Given the description of an element on the screen output the (x, y) to click on. 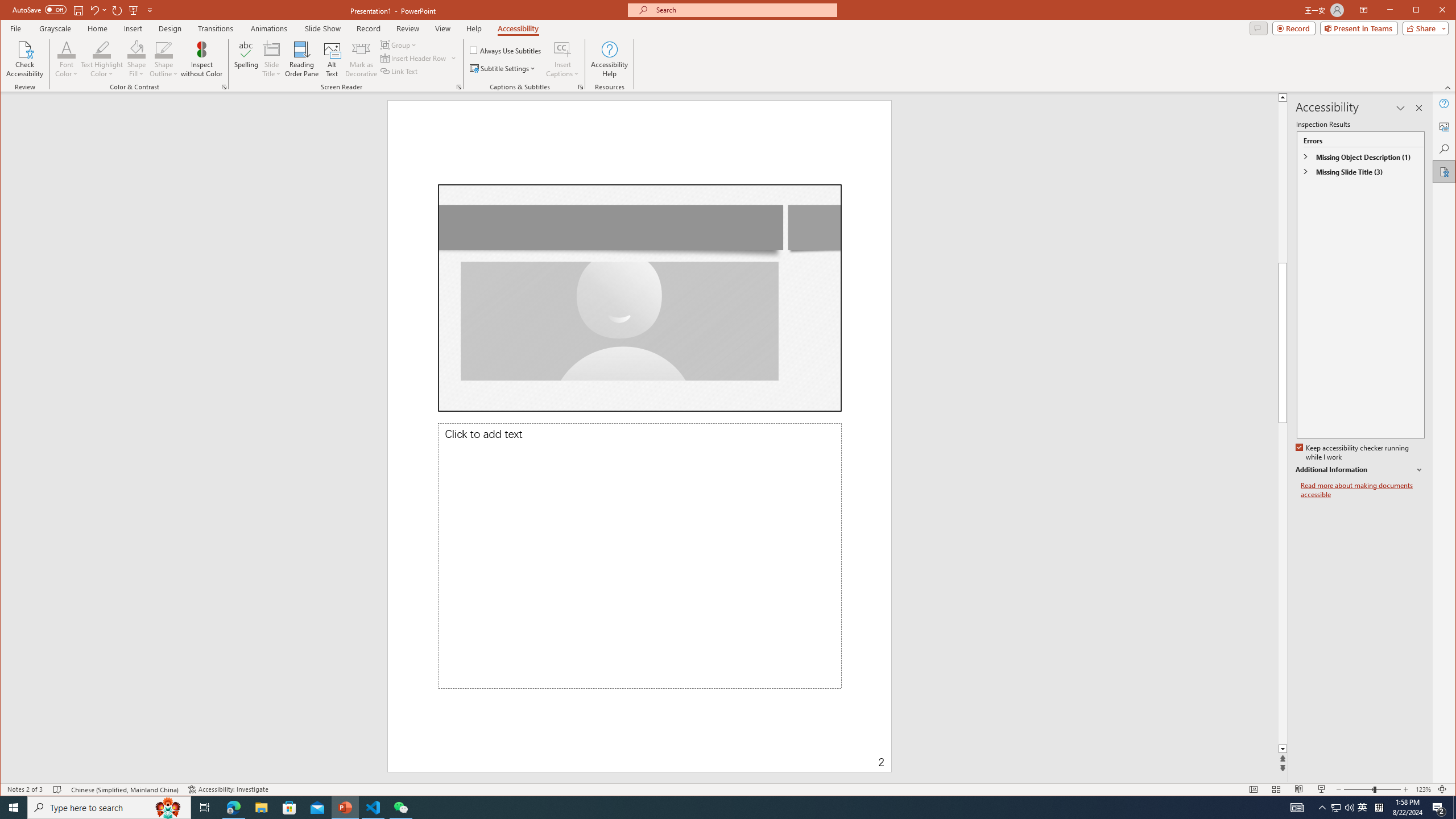
Subtitle Settings (502, 68)
Accessibility Help (608, 59)
Line down (1427, 749)
WeChat - 1 running window (400, 807)
Read more about making documents accessible (1362, 489)
Reading Order Pane (301, 59)
Mark as Decorative (360, 59)
Slide Title (271, 48)
Check Accessibility (25, 59)
